Given the description of an element on the screen output the (x, y) to click on. 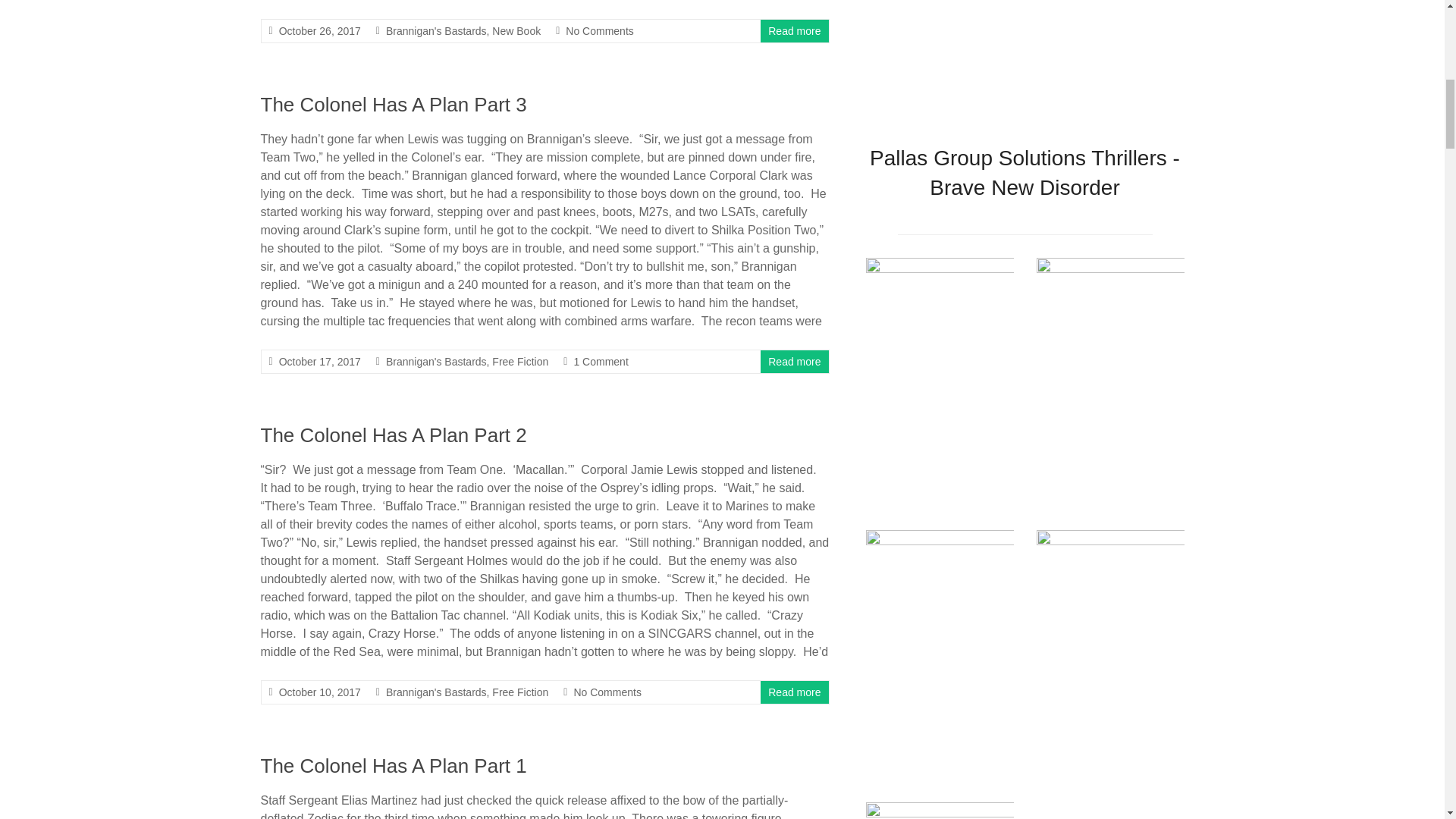
No Comments (599, 30)
New Book (516, 30)
7:05 am (320, 692)
Brannigan's Bastards (435, 361)
The Colonel Has A Plan Part 2 (393, 435)
October 26, 2017 (320, 30)
Brannigan's Bastards (435, 692)
Read more (794, 692)
The Colonel Has A Plan Part 3 (393, 104)
Brannigan's Bastards (435, 30)
